Given the description of an element on the screen output the (x, y) to click on. 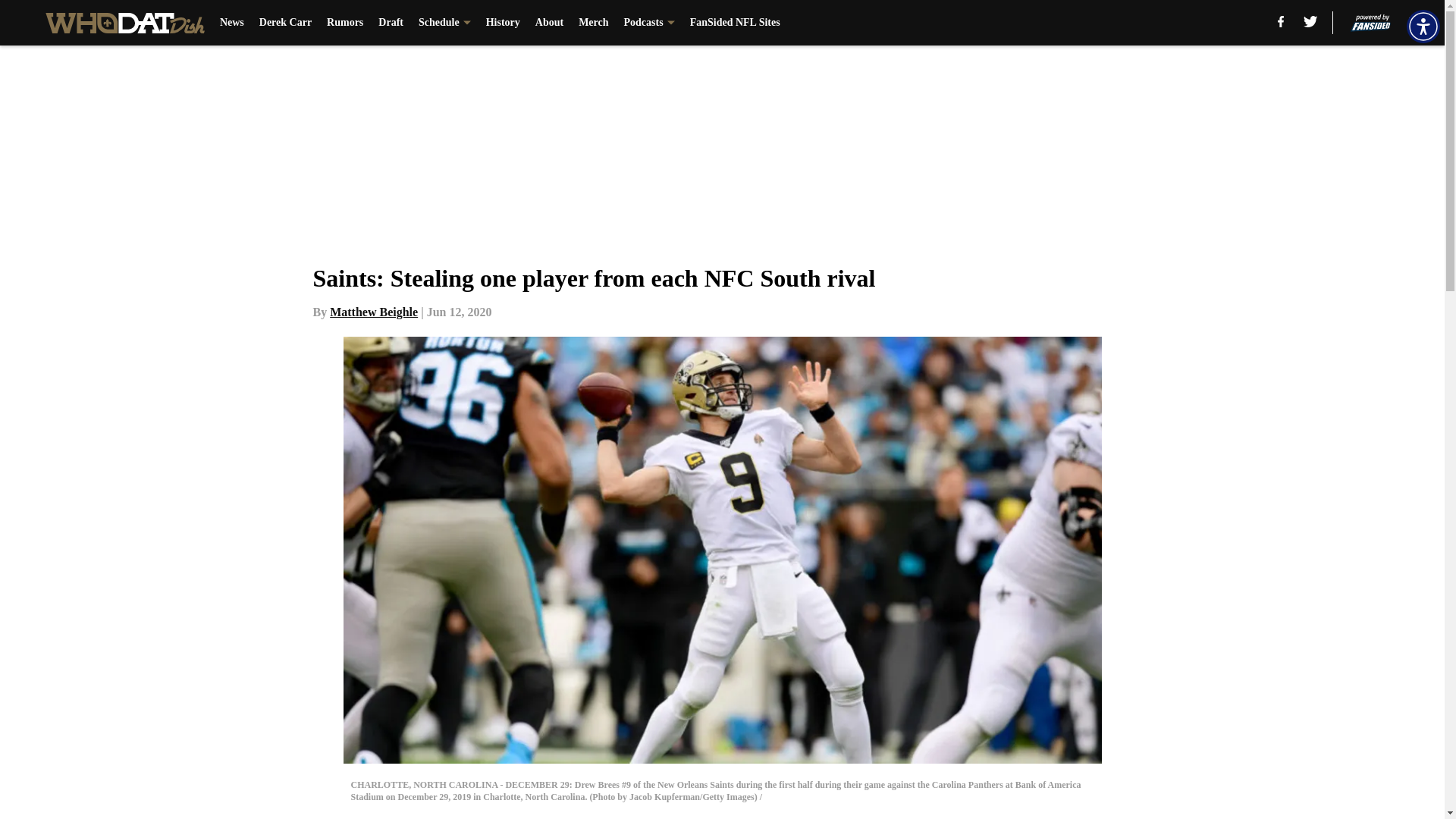
About (549, 22)
Derek Carr (285, 22)
Rumors (344, 22)
News (231, 22)
Accessibility Menu (1422, 26)
Draft (390, 22)
Matthew Beighle (373, 311)
FanSided NFL Sites (735, 22)
History (502, 22)
Merch (593, 22)
